Given the description of an element on the screen output the (x, y) to click on. 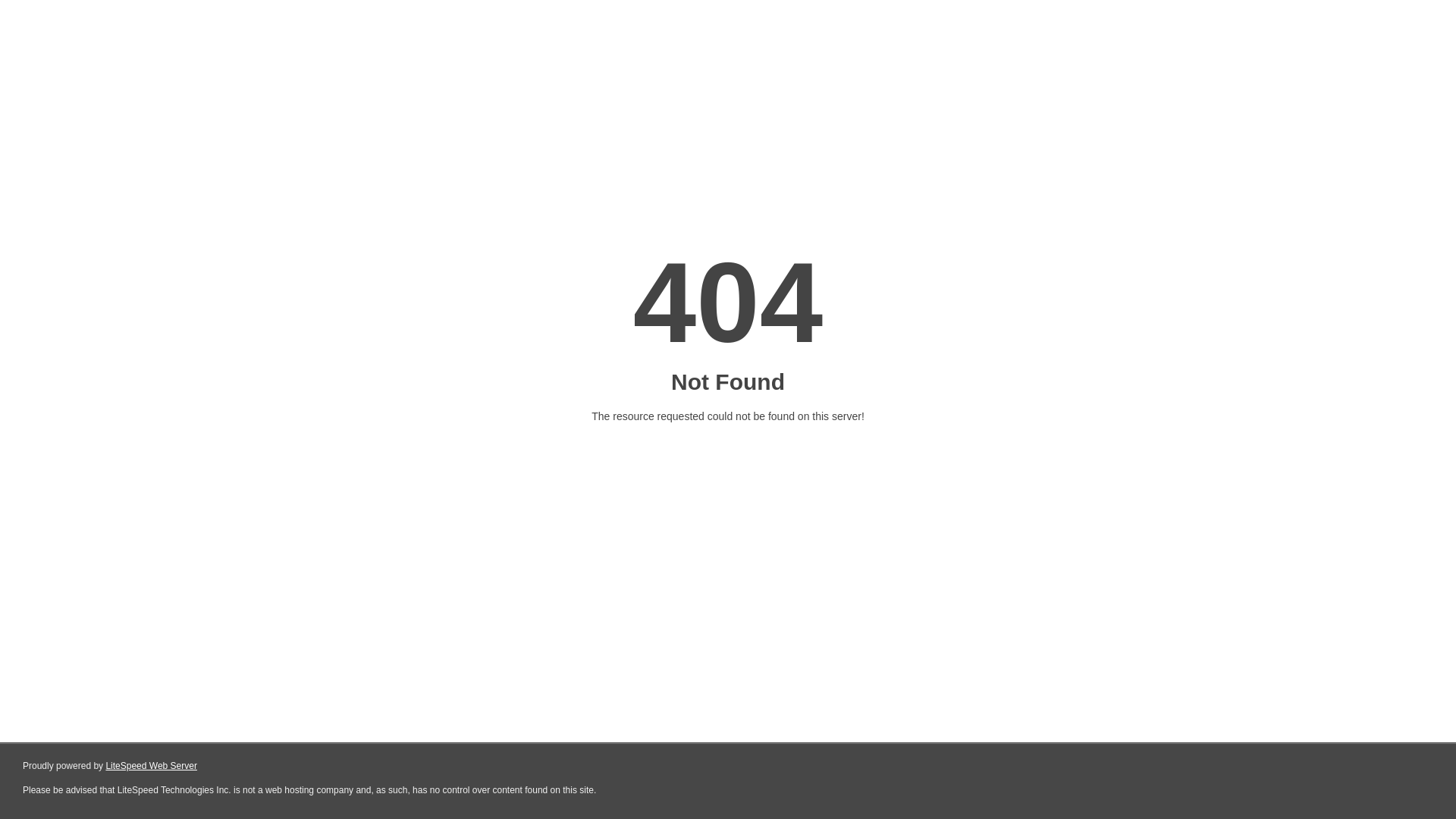
LiteSpeed Web Server Element type: text (151, 765)
